Given the description of an element on the screen output the (x, y) to click on. 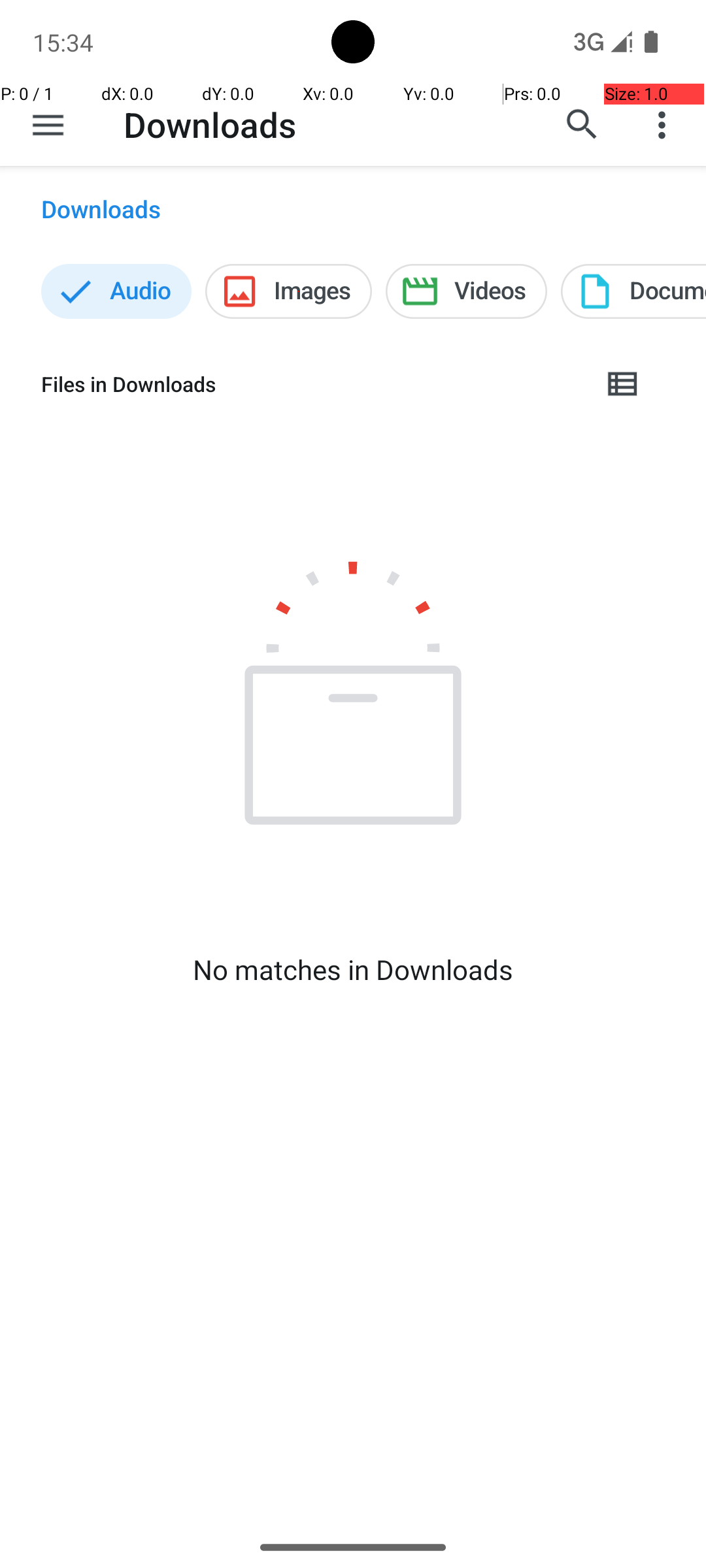
Show roots Element type: android.widget.ImageButton (48, 124)
Downloads Element type: android.widget.TextView (209, 124)
Files in Downloads Element type: android.widget.TextView (311, 383)
List view Element type: android.widget.TextView (622, 384)
Audio Element type: android.widget.CompoundButton (116, 291)
Images Element type: android.widget.CompoundButton (288, 291)
Videos Element type: android.widget.CompoundButton (466, 291)
Documents Element type: android.widget.CompoundButton (633, 291)
No matches in Downloads Element type: android.widget.TextView (352, 968)
